Given the description of an element on the screen output the (x, y) to click on. 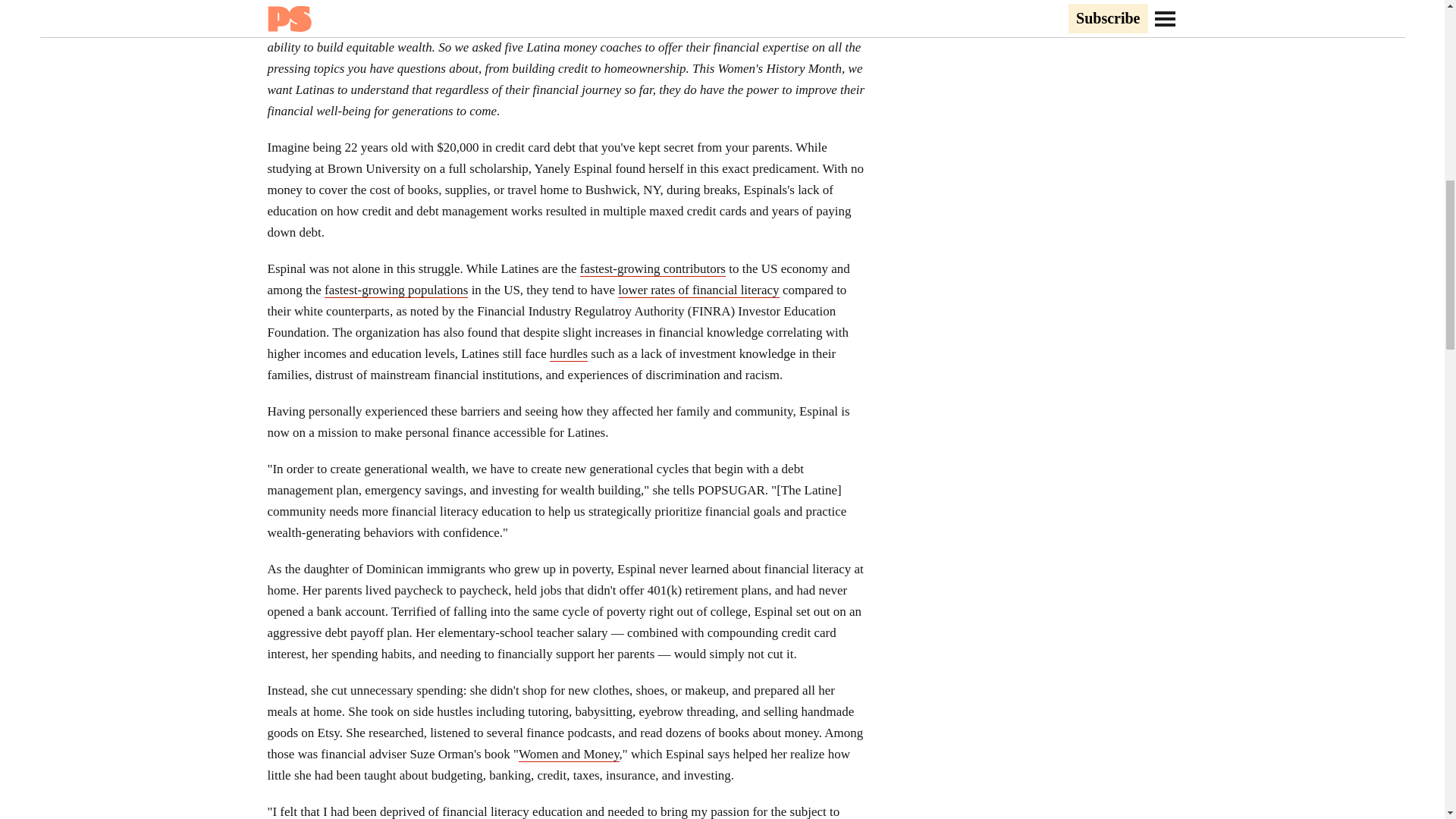
fastest-growing populations (395, 290)
fastest-growing contributors (652, 268)
lower rates of financial literacy (697, 290)
hurdles (569, 353)
Women and Money (569, 754)
